Given the description of an element on the screen output the (x, y) to click on. 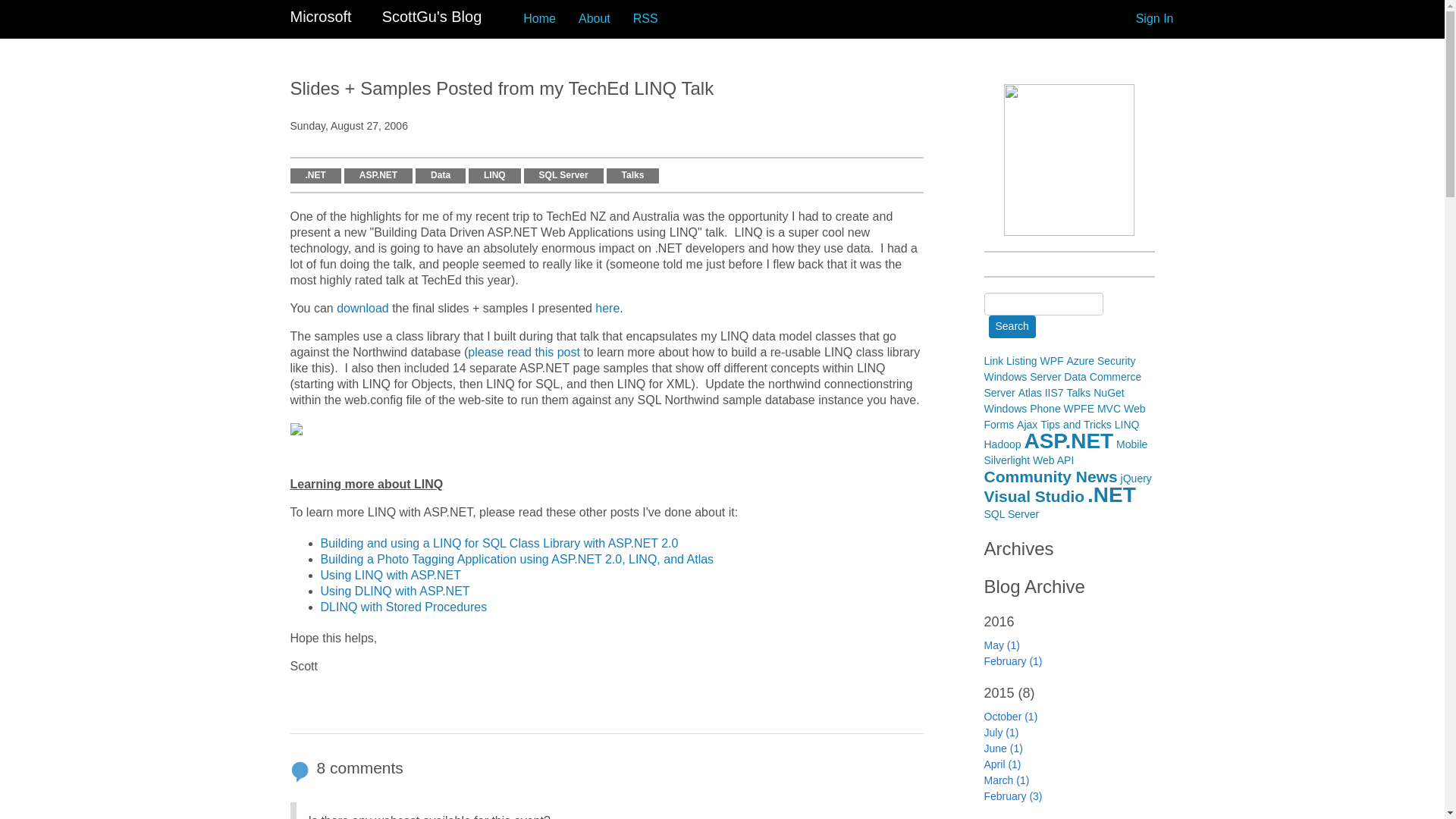
Security (1116, 360)
LINQ (494, 175)
download (362, 308)
.NET (314, 175)
SQL Server (564, 175)
Using DLINQ with ASP.NET (394, 590)
Home (539, 18)
Sign In (1154, 18)
